Given the description of an element on the screen output the (x, y) to click on. 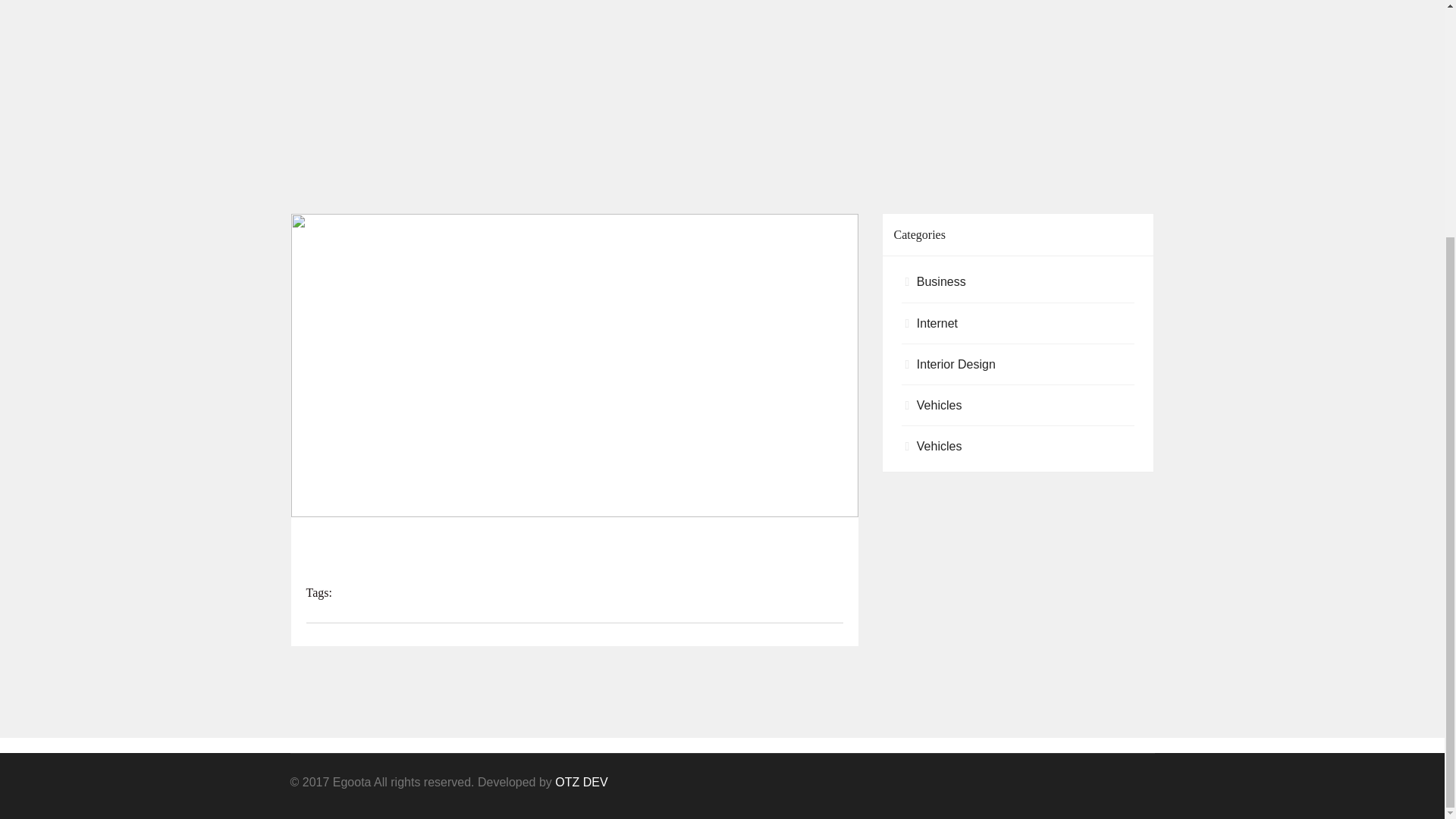
Internet (937, 323)
Vehicles (939, 445)
Vehicles (939, 404)
OTZ DEV (580, 781)
Categories (1018, 234)
Business (941, 281)
Interior Design (956, 364)
